Given the description of an element on the screen output the (x, y) to click on. 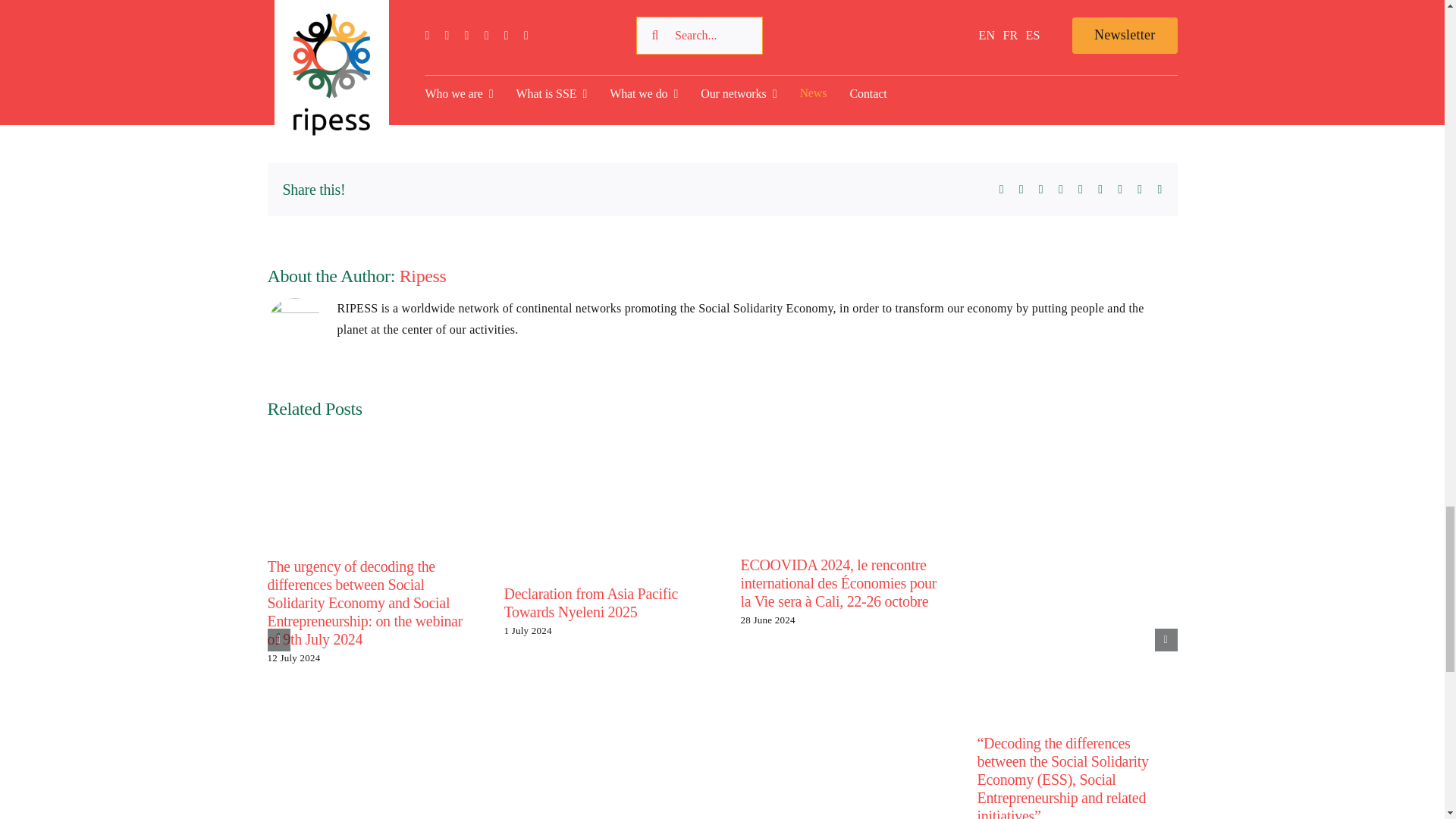
LinkedIn (1060, 189)
Reddit (1041, 189)
Facebook (1001, 189)
WhatsApp (1080, 189)
Posts by Ripess (295, 102)
X (1021, 189)
